Given the description of an element on the screen output the (x, y) to click on. 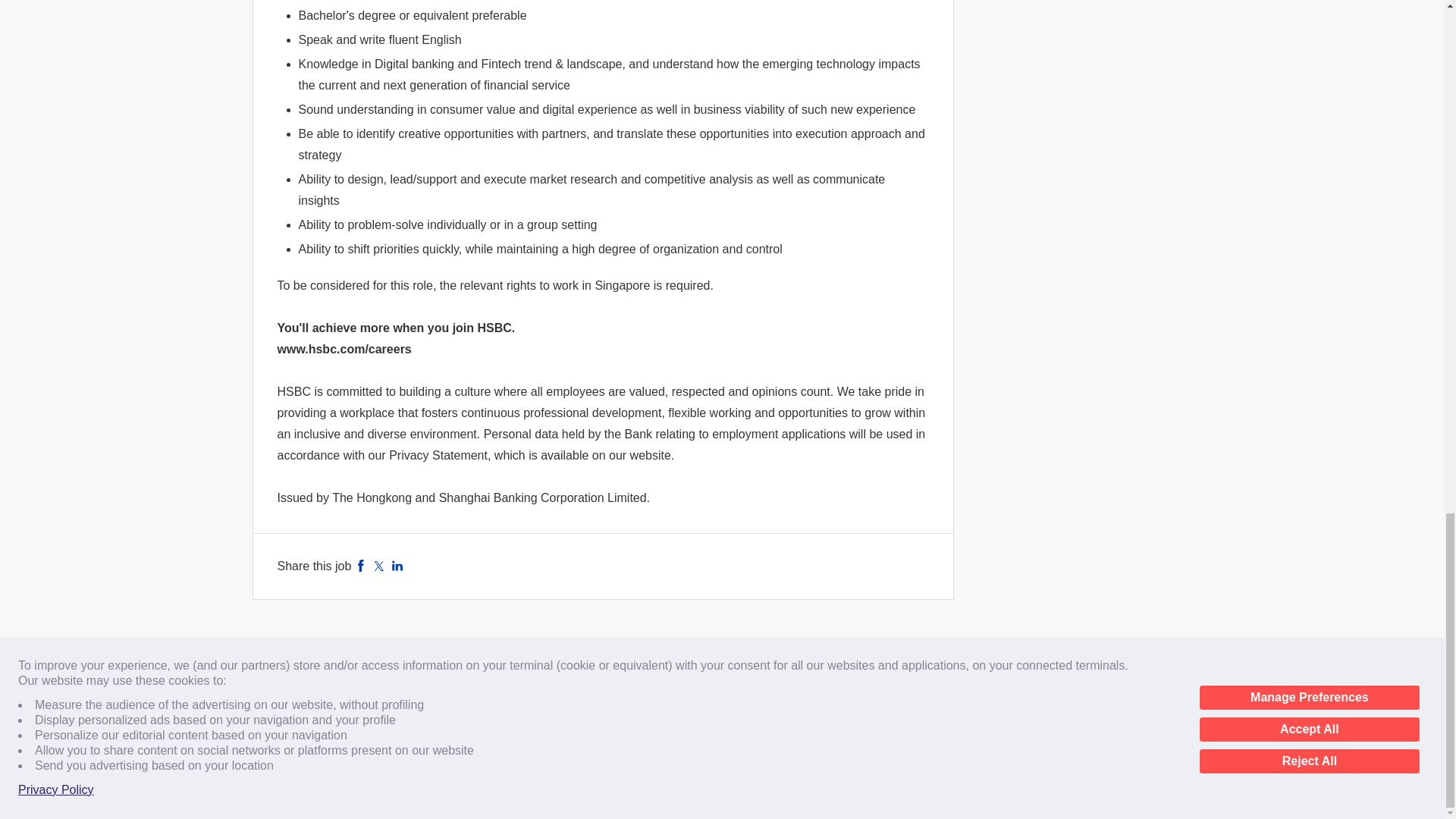
About (290, 693)
Facebook (360, 564)
Twitter (378, 564)
Contact Us (357, 693)
LinkedIn (397, 564)
